Given the description of an element on the screen output the (x, y) to click on. 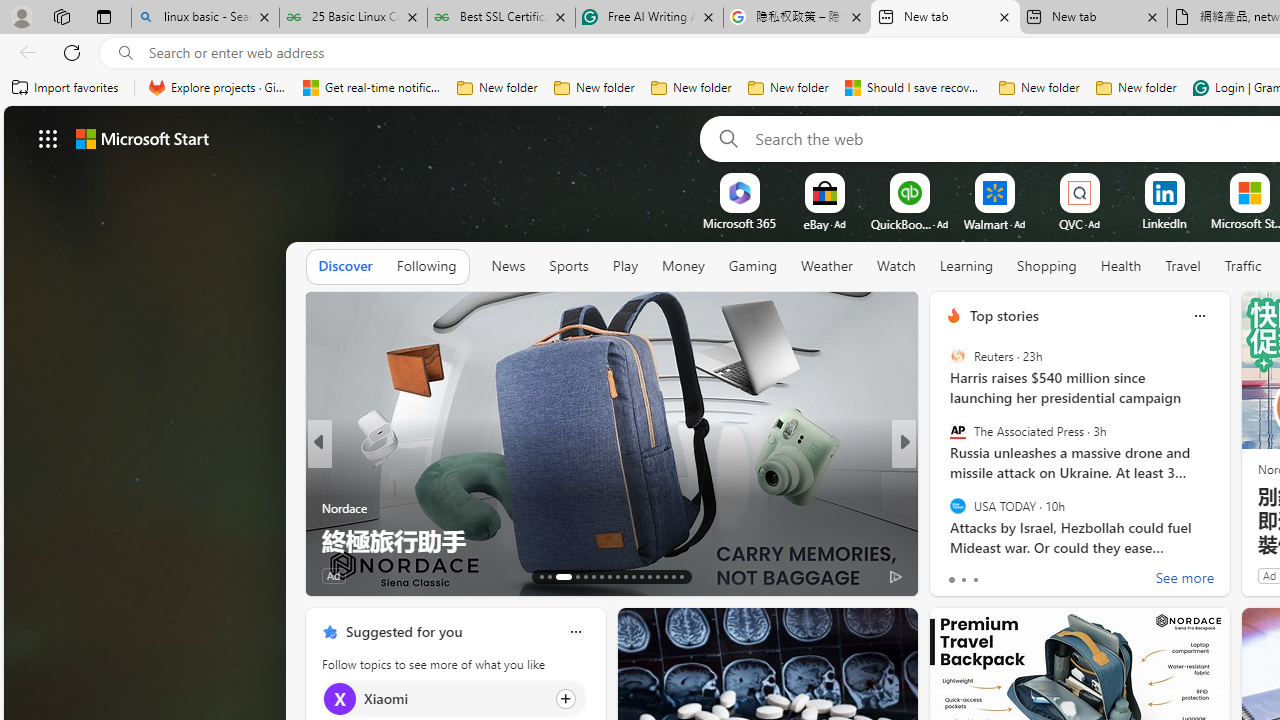
Suggested for you (404, 631)
886 Like (959, 574)
Eat This, Not That! (944, 475)
New folder (1136, 88)
App launcher (47, 138)
AutomationID: tab-16 (573, 576)
110 Like (342, 574)
19 Rare and Mysterious Deep-Sea Creatures (611, 539)
AutomationID: tab-13 (541, 576)
2 Like (952, 574)
219 Like (959, 574)
